Given the description of an element on the screen output the (x, y) to click on. 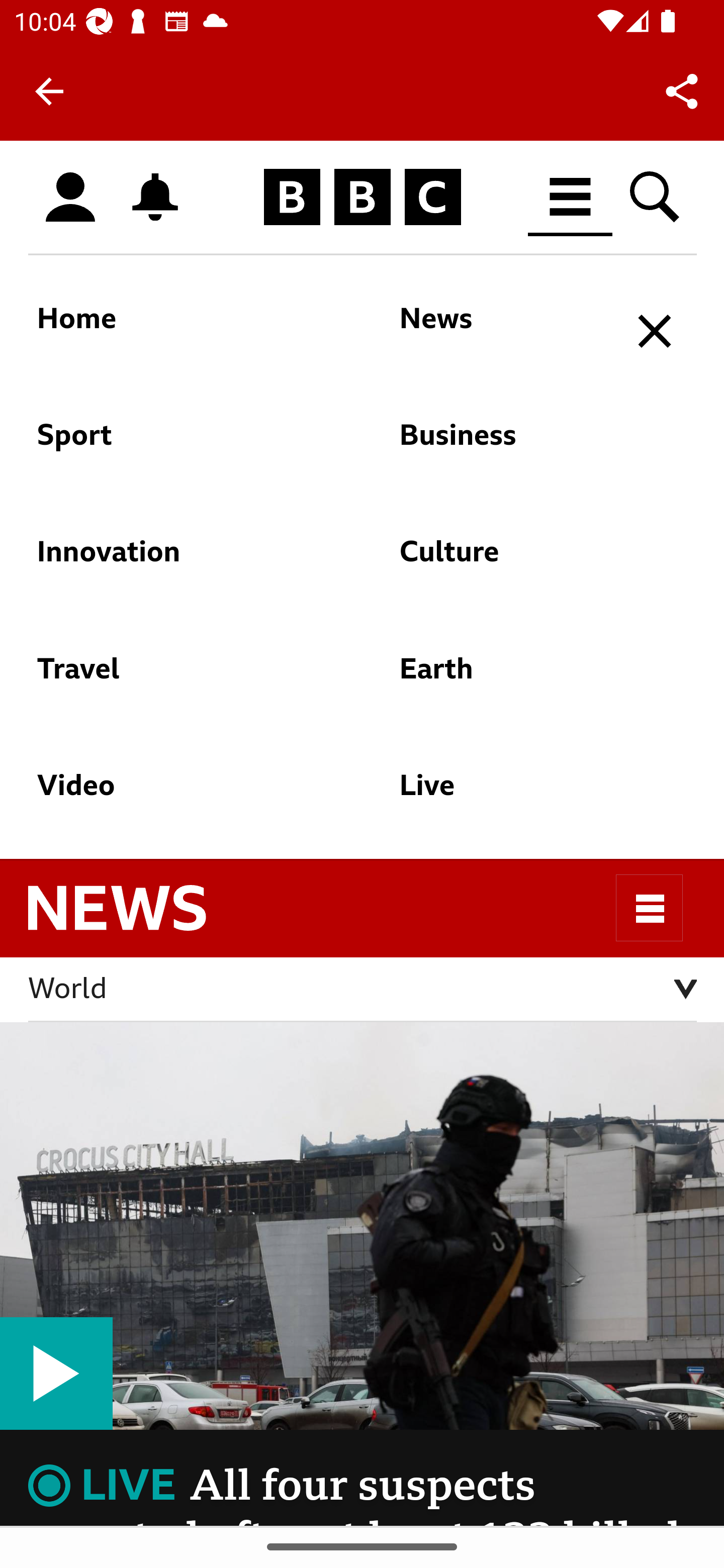
Back (49, 91)
Share (681, 90)
Notifications (155, 197)
All BBC destinations menu (570, 197)
Search BBC (655, 197)
Sign in (70, 198)
Homepage (361, 198)
Home (174, 327)
News (501, 327)
Close menu (655, 331)
Sport (174, 443)
Business (501, 443)
Innovation (174, 561)
Culture (501, 561)
Travel (174, 678)
Earth (501, 678)
Video (174, 794)
Live (501, 794)
Sections (650, 907)
BBC News (133, 917)
World (363, 989)
